Given the description of an element on the screen output the (x, y) to click on. 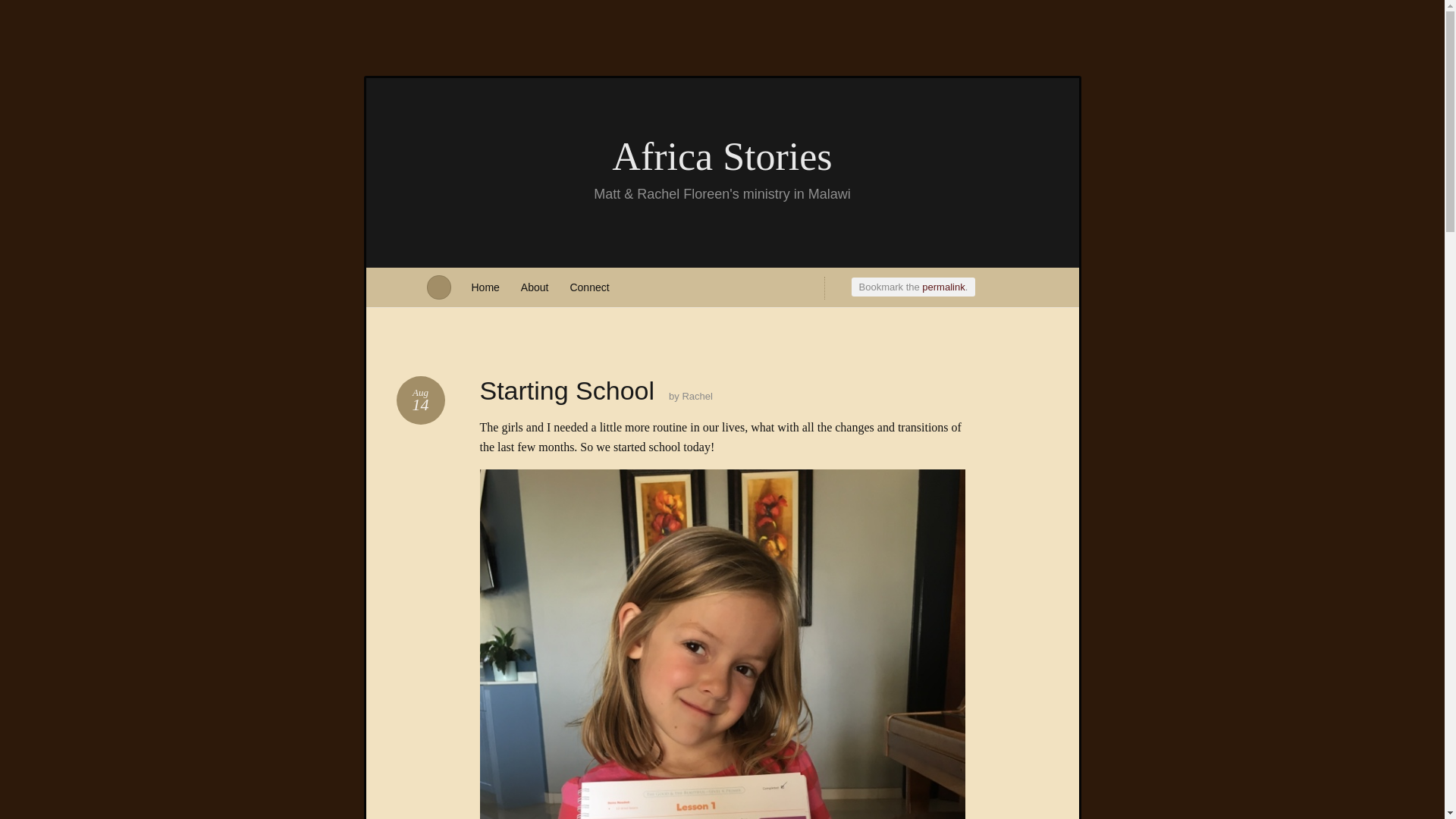
About (535, 287)
View all posts by Rachel (696, 396)
Home (486, 287)
Search (21, 7)
permalink (420, 400)
August 14 2019 (942, 286)
Africa Stories (420, 400)
Permalink to Starting School (721, 158)
Rachel (942, 286)
